Given the description of an element on the screen output the (x, y) to click on. 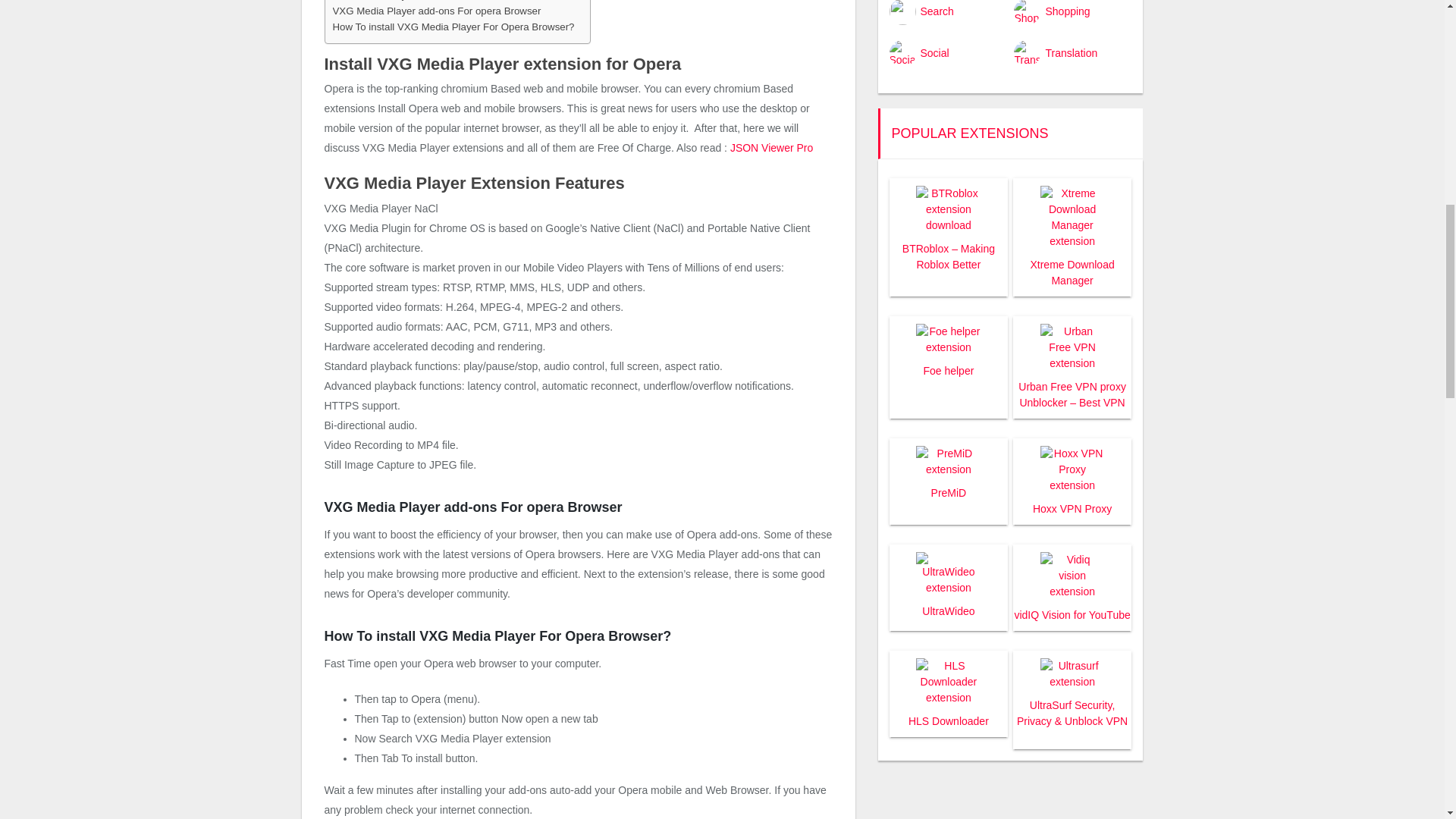
VXG Media Player Extension Features (418, 1)
VXG Media Player add-ons For opera Browser (435, 10)
VXG Media Player Extension Features (418, 1)
How To install VXG Media Player For Opera Browser? (452, 26)
VXG Media Player add-ons For opera Browser (435, 10)
How To install VXG Media Player For Opera Browser? (452, 26)
JSON Viewer Pro (771, 147)
